Given the description of an element on the screen output the (x, y) to click on. 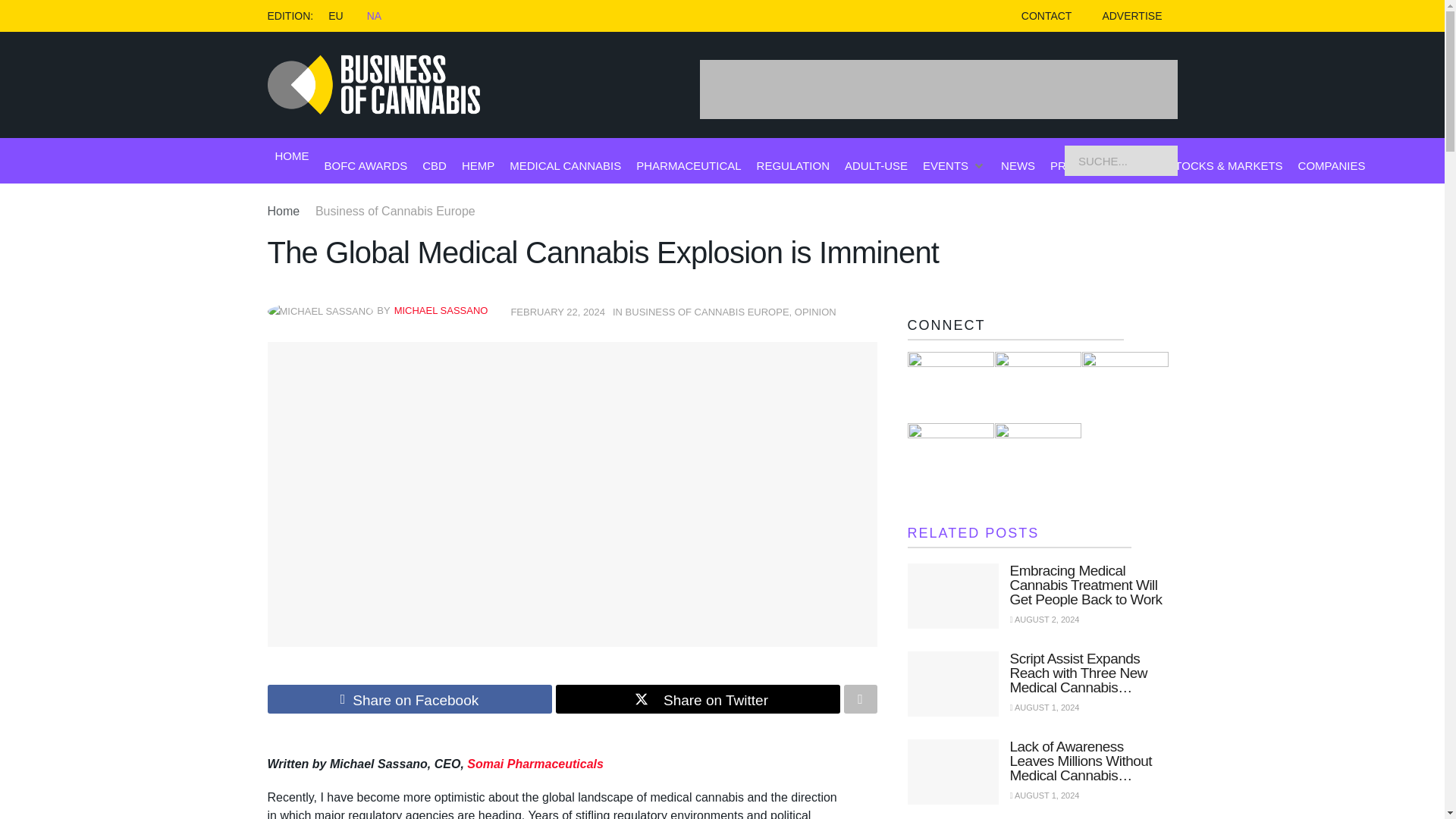
MEDICAL CANNABIS (565, 165)
NEWS (1018, 165)
MICHAEL SASSANO (440, 310)
HOME (291, 156)
Business of Cannabis Europe (395, 210)
Share on Facebook (408, 698)
EVENTS (945, 165)
PHARMACEUTICAL (688, 165)
Home (282, 210)
ADVERTISE (1131, 15)
